Given the description of an element on the screen output the (x, y) to click on. 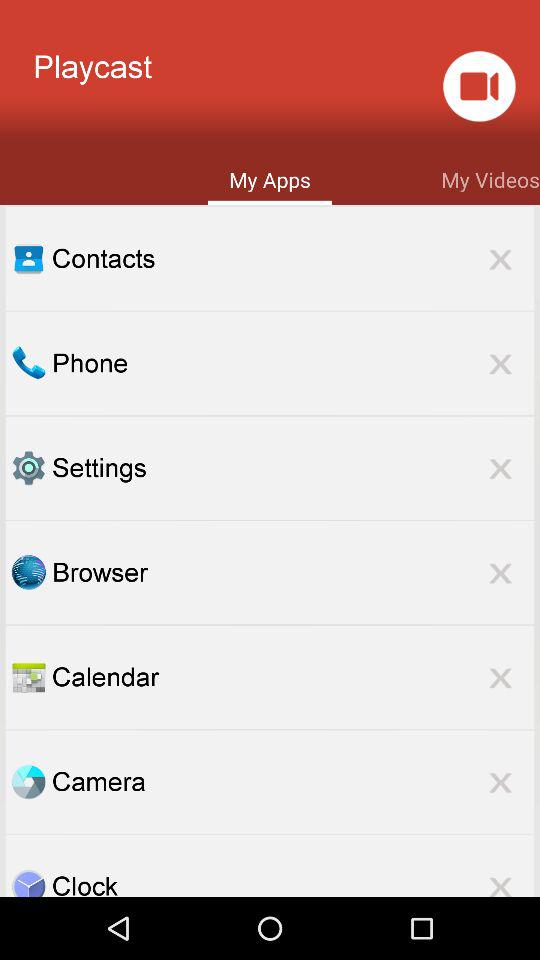
click item to the right of the playcast item (478, 85)
